Given the description of an element on the screen output the (x, y) to click on. 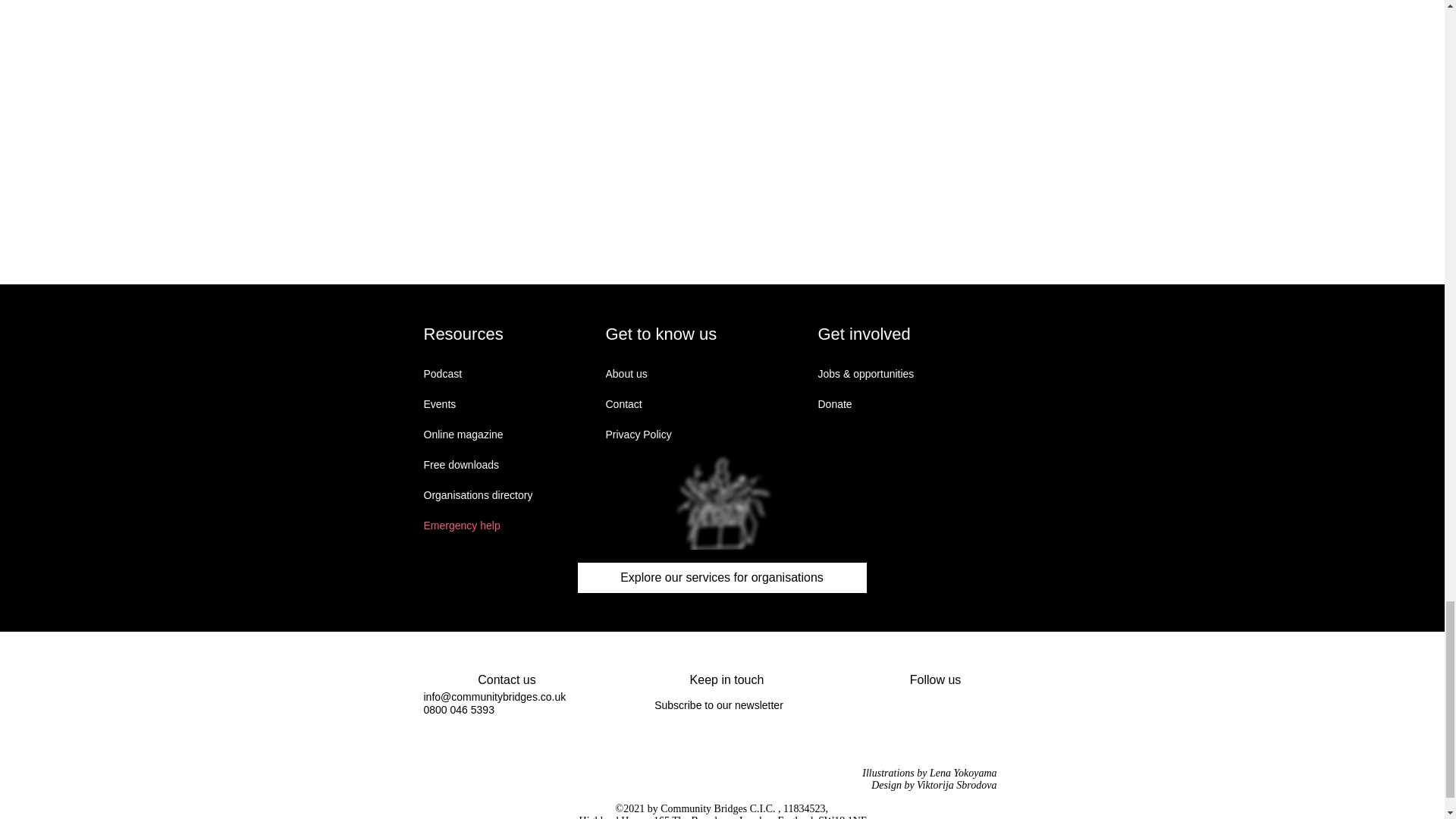
Podcast (477, 373)
